Given the description of an element on the screen output the (x, y) to click on. 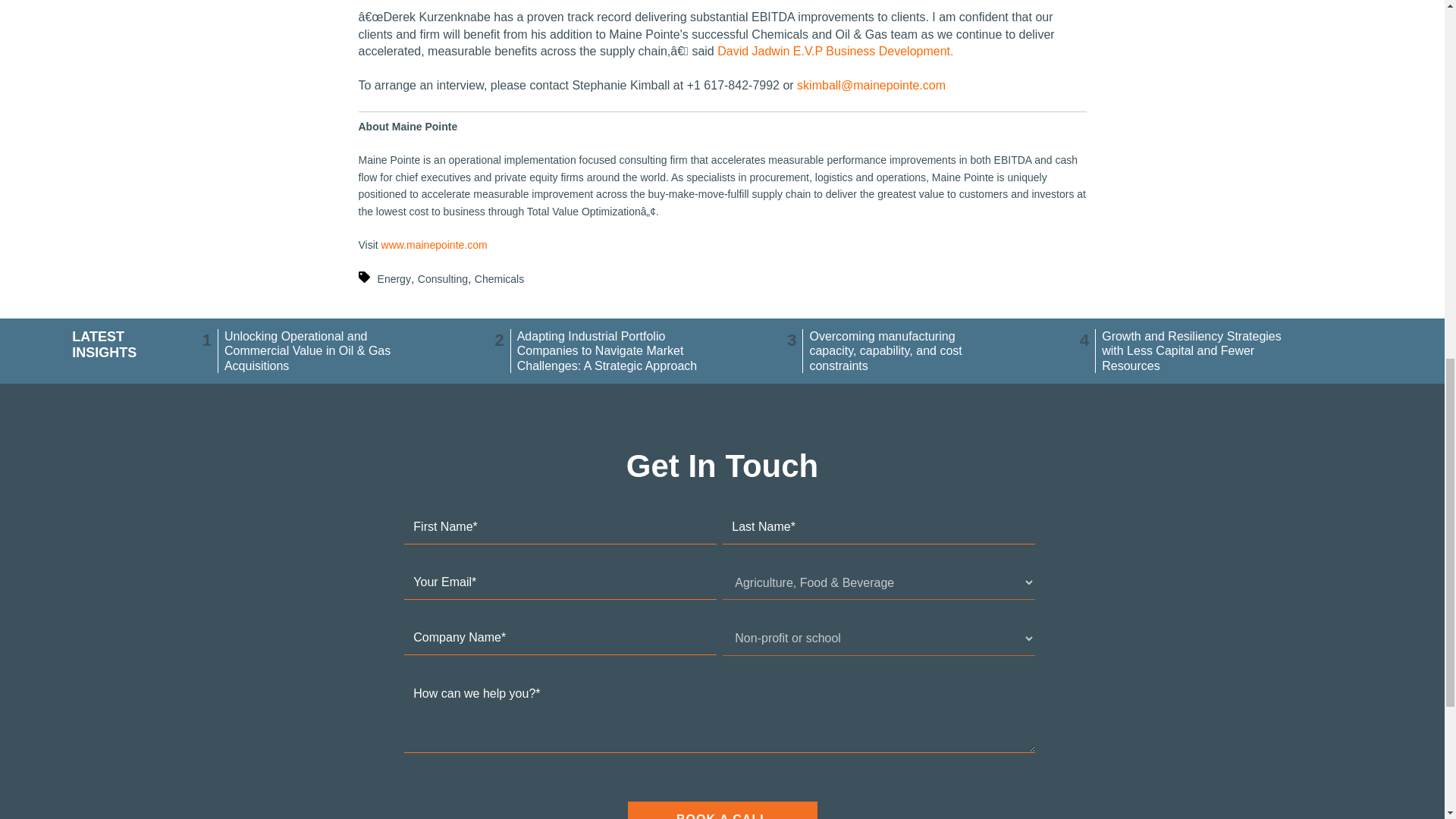
Book a call (721, 810)
